Given the description of an element on the screen output the (x, y) to click on. 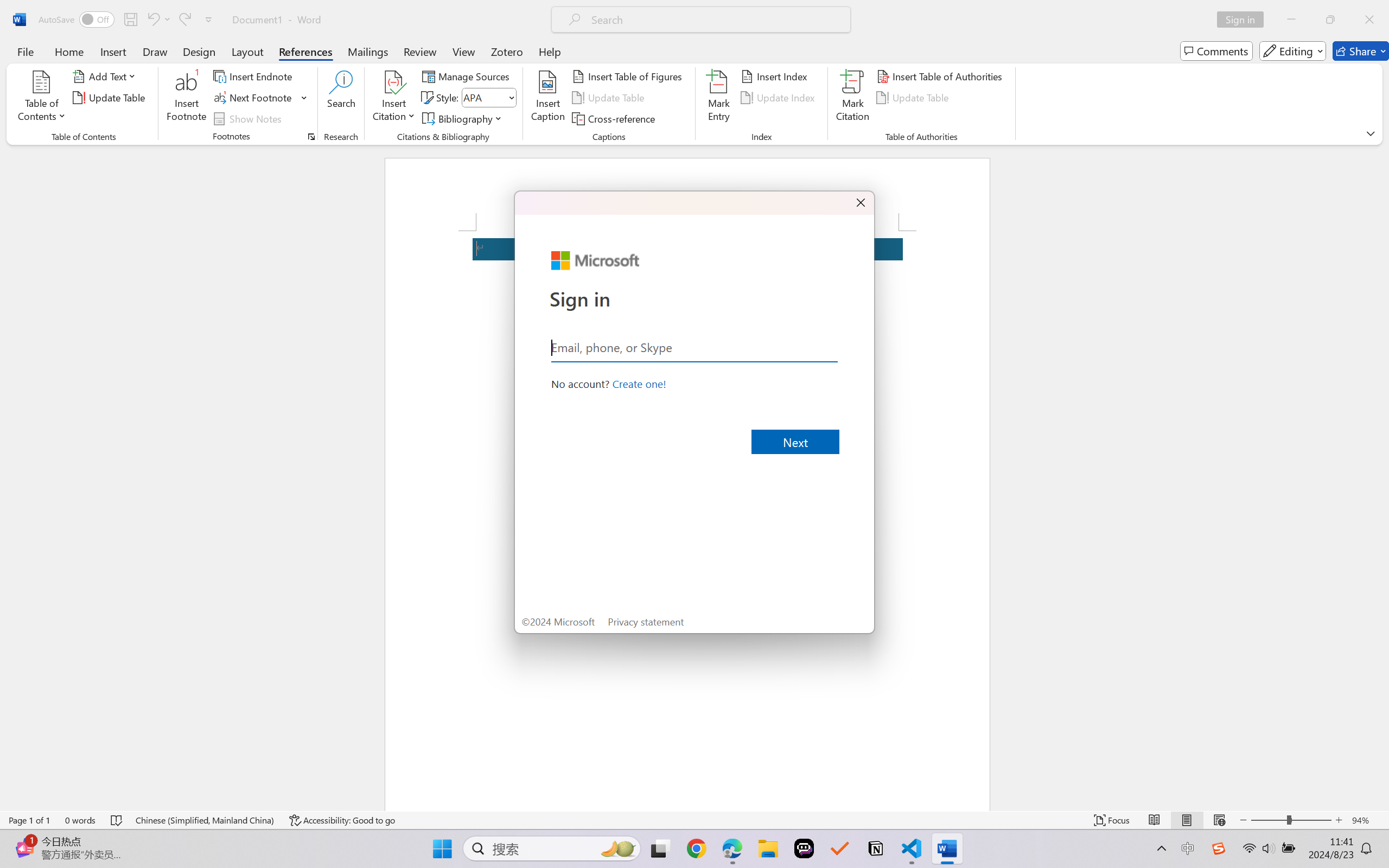
Show Notes (248, 118)
Undo Apply Quick Style Set (152, 19)
Next Footnote (253, 97)
Table of Contents (42, 97)
Update Index (778, 97)
Cross-reference... (615, 118)
